Given the description of an element on the screen output the (x, y) to click on. 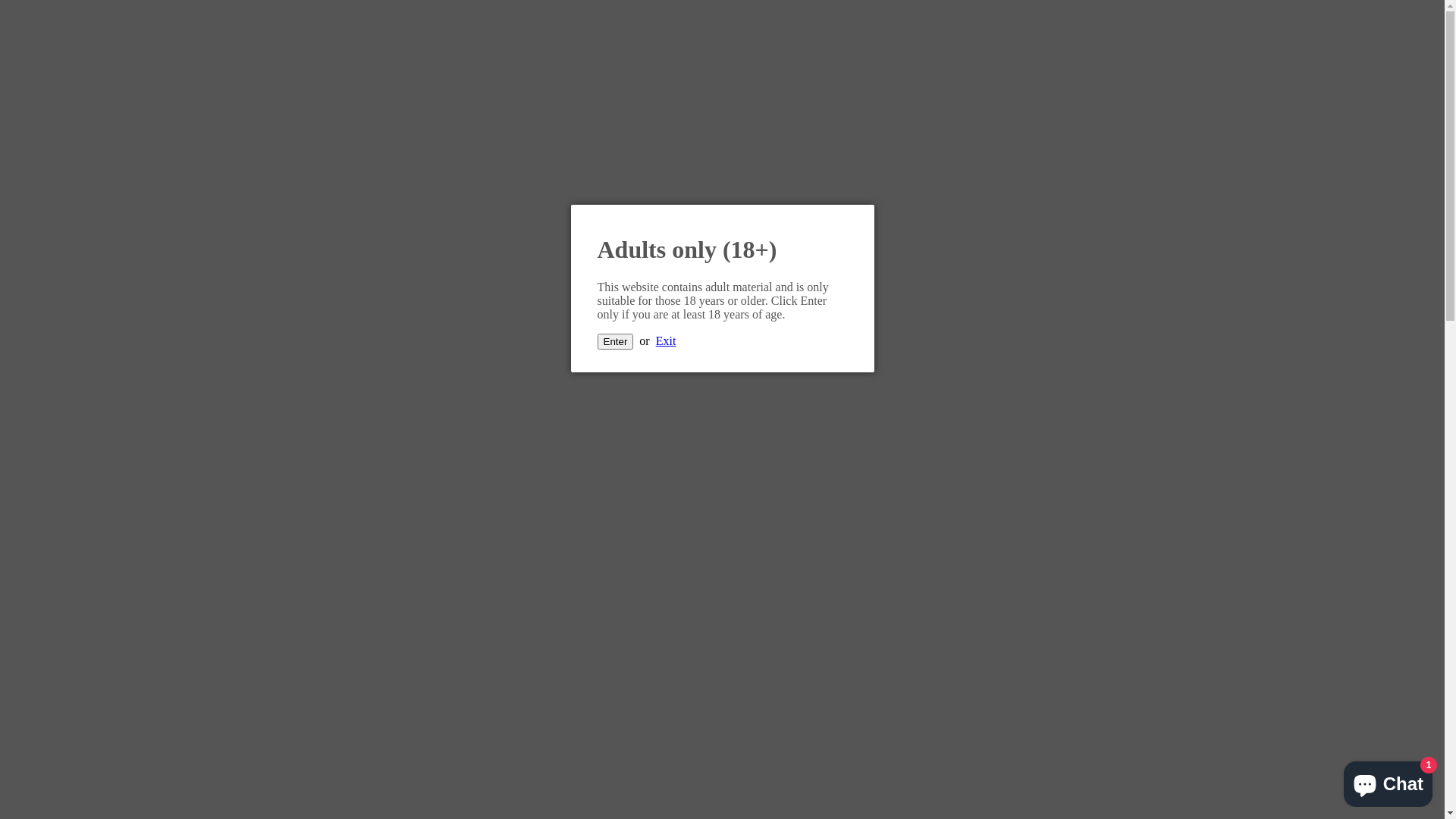
Home Element type: text (50, 37)
Accessories Element type: text (95, 188)
Vaporizers Element type: text (92, 78)
Catalogue   Element type: text (63, 444)
Contact us Element type: text (61, 621)
Cases & Pouches Element type: text (108, 160)
Search Element type: text (52, 635)
Storage, Trays & Grinders Element type: text (130, 106)
Ayad Element type: hover (57, 12)
Waterpipes Element type: text (93, 457)
Dugouts Element type: text (86, 119)
Apparel Element type: text (86, 174)
Menu Element type: text (20, 12)
Sign in Element type: text (53, 362)
Home Goods Element type: text (98, 147)
Sign in Element type: text (53, 256)
Home Goods Element type: text (98, 539)
0 Element type: text (81, 12)
All Bowls, Downstems & Bangers Element type: text (150, 526)
Apparel Element type: text (86, 567)
Accessories Element type: text (95, 580)
Contact us Element type: text (61, 228)
Vaporizers Element type: text (92, 471)
Growing Kits Element type: text (99, 201)
40% Discounts Element type: text (72, 608)
Growing Kits Element type: text (99, 594)
Shopify online store chat Element type: hover (1388, 780)
Cases & Pouches Element type: text (108, 553)
Exit Element type: text (665, 340)
40% Discounts Element type: text (72, 215)
Waterpipes Element type: text (93, 65)
Storage, Trays & Grinders Element type: text (130, 498)
0 Element type: text (39, 389)
Ayad Element type: hover (722, 322)
Dugouts Element type: text (86, 512)
Home Element type: text (50, 430)
Pipes, Blunts & Lighters Element type: text (126, 92)
Enter Element type: text (615, 341)
Pipes, Blunts & Lighters Element type: text (126, 485)
Search Element type: text (52, 242)
All Bowls, Downstems & Bangers Element type: text (150, 133)
